Given the description of an element on the screen output the (x, y) to click on. 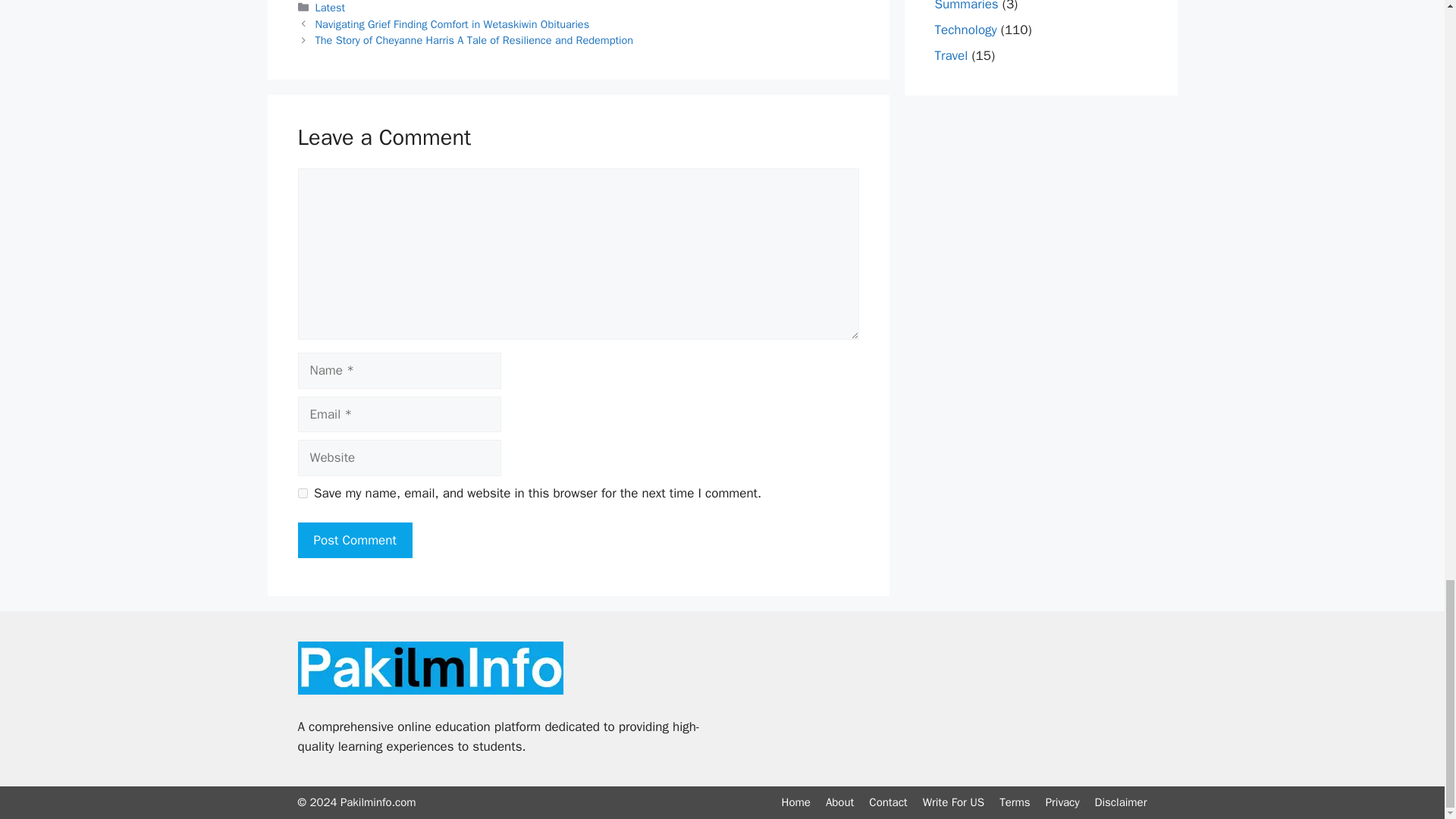
Latest (330, 7)
Post Comment (354, 540)
yes (302, 492)
Navigating Grief Finding Comfort in Wetaskiwin Obituaries (452, 24)
Post Comment (354, 540)
